Given the description of an element on the screen output the (x, y) to click on. 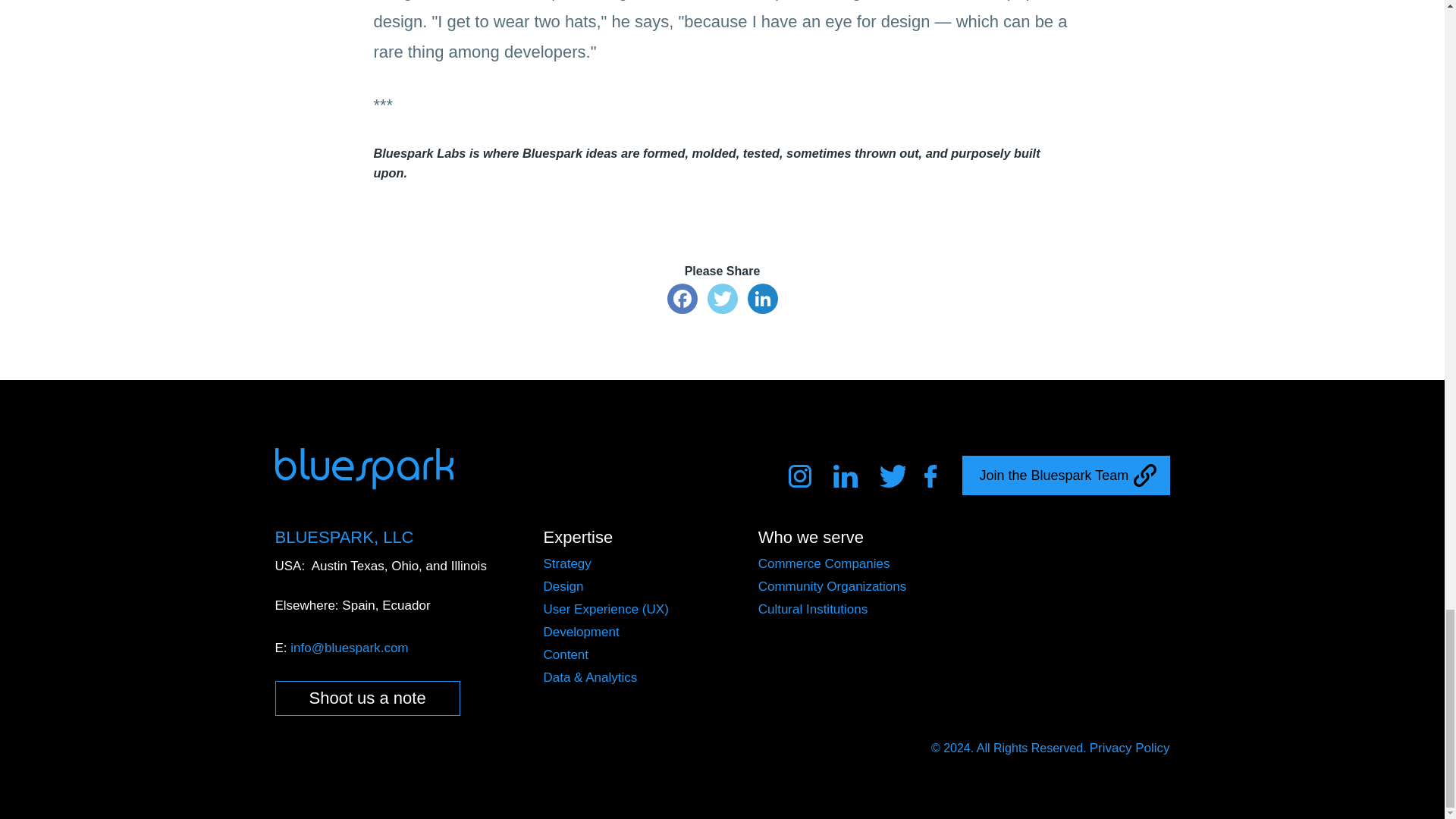
Join the Bluespark Team (1064, 475)
Content (565, 654)
Design (563, 586)
Linkedin (846, 476)
Instagram (802, 476)
Facebook (937, 476)
Commerce Companies (823, 563)
Twitter (892, 476)
Privacy Policy (1129, 748)
Community Organizations (832, 586)
